Given the description of an element on the screen output the (x, y) to click on. 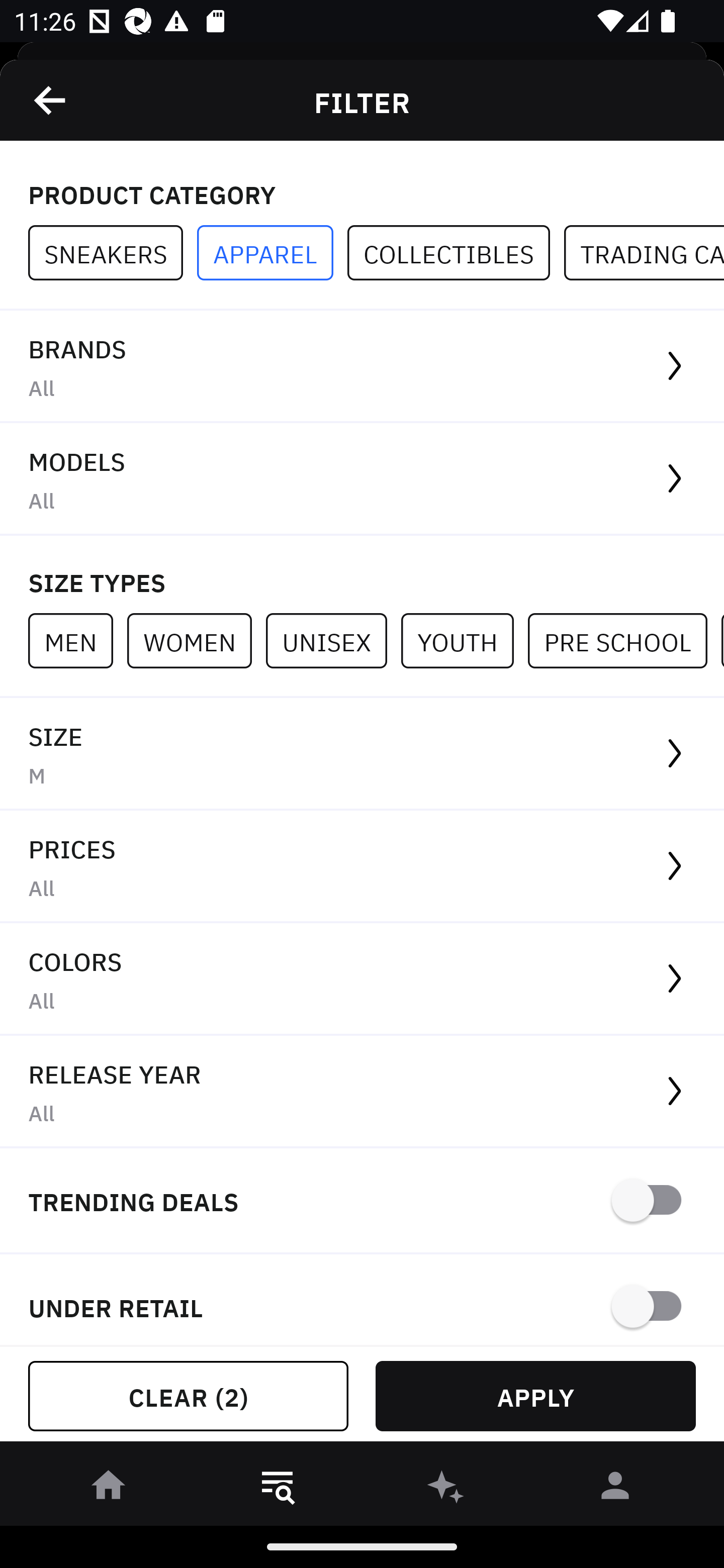
 (50, 100)
SNEAKERS (112, 252)
APPAREL (271, 252)
COLLECTIBLES (455, 252)
TRADING CARDS (643, 252)
BRANDS All (362, 366)
MODELS All (362, 479)
MEN (77, 640)
WOMEN (196, 640)
UNISEX (333, 640)
YOUTH (464, 640)
PRE SCHOOL (624, 640)
SIZE M (362, 753)
PRICES All (362, 866)
COLORS All (362, 979)
RELEASE YEAR All (362, 1091)
TRENDING DEALS (362, 1200)
UNDER RETAIL (362, 1299)
CLEAR (2) (188, 1396)
APPLY (535, 1396)
󰋜 (108, 1488)
󱎸 (277, 1488)
󰫢 (446, 1488)
󰀄 (615, 1488)
